Given the description of an element on the screen output the (x, y) to click on. 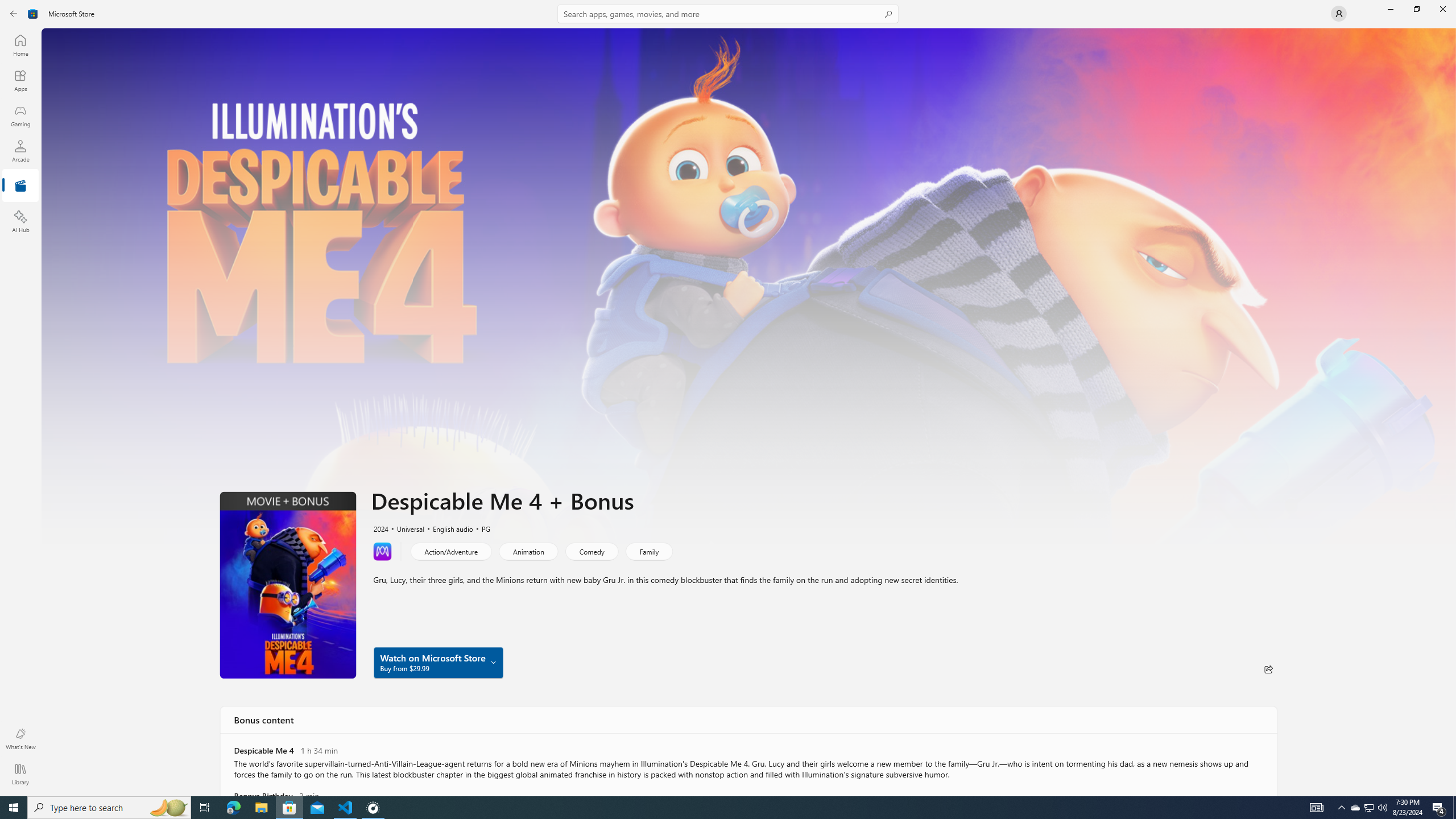
Back (13, 13)
Search (727, 13)
PG (481, 528)
Action/Adventure (451, 551)
Watch on Microsoft Store Buy from $29.99 (437, 662)
Animation (528, 551)
Universal (405, 528)
AutomationID: NavigationControl (728, 398)
2024 (379, 528)
